Given the description of an element on the screen output the (x, y) to click on. 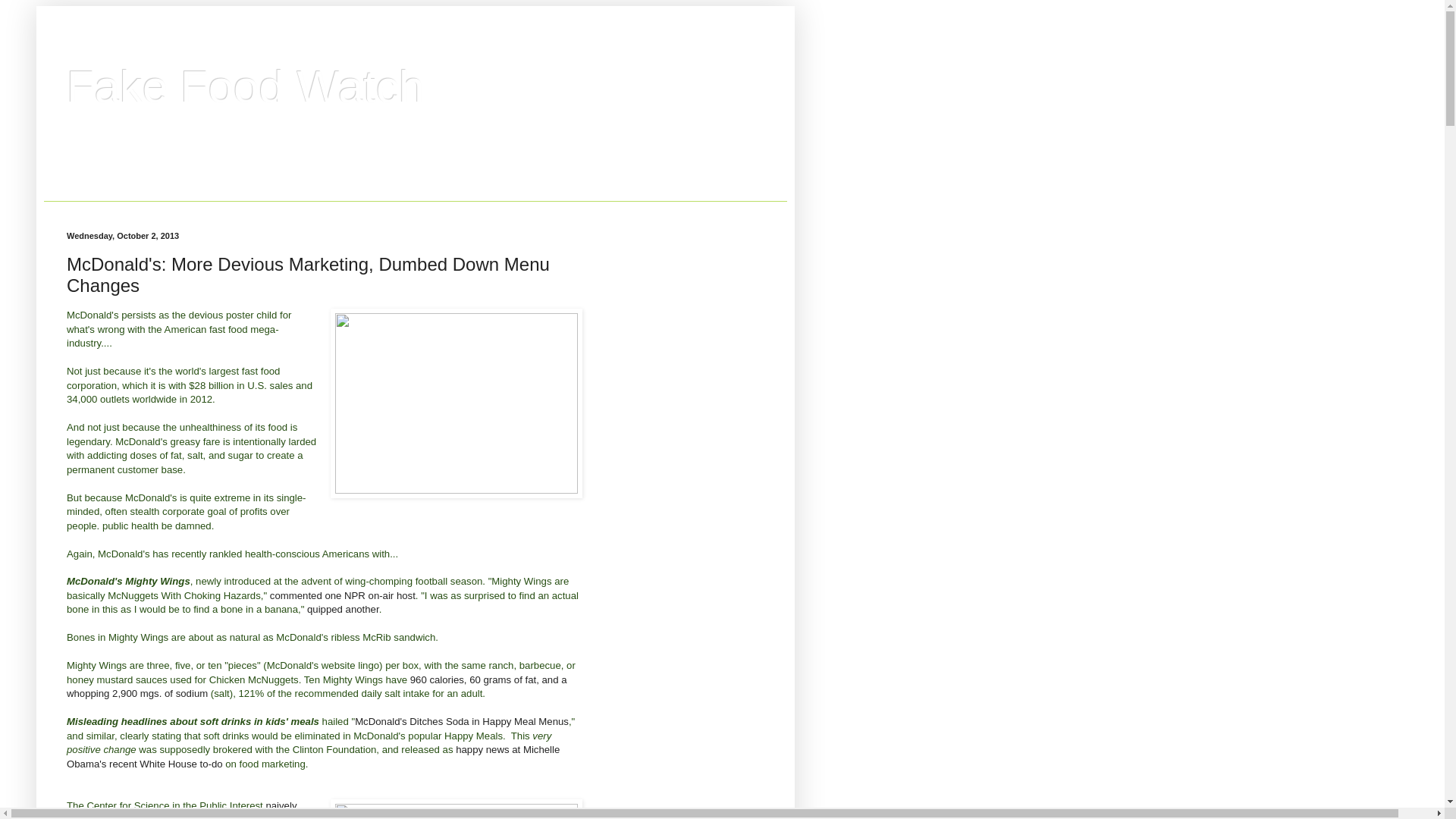
happy news at Michelle Obama's recent White House to-do (312, 756)
Fake Food Watch (244, 86)
McDonald's Ditches Soda in Happy Meal Menus (462, 721)
quipped another (342, 609)
naively penned (181, 809)
commented one NPR on-air host (341, 595)
